Given the description of an element on the screen output the (x, y) to click on. 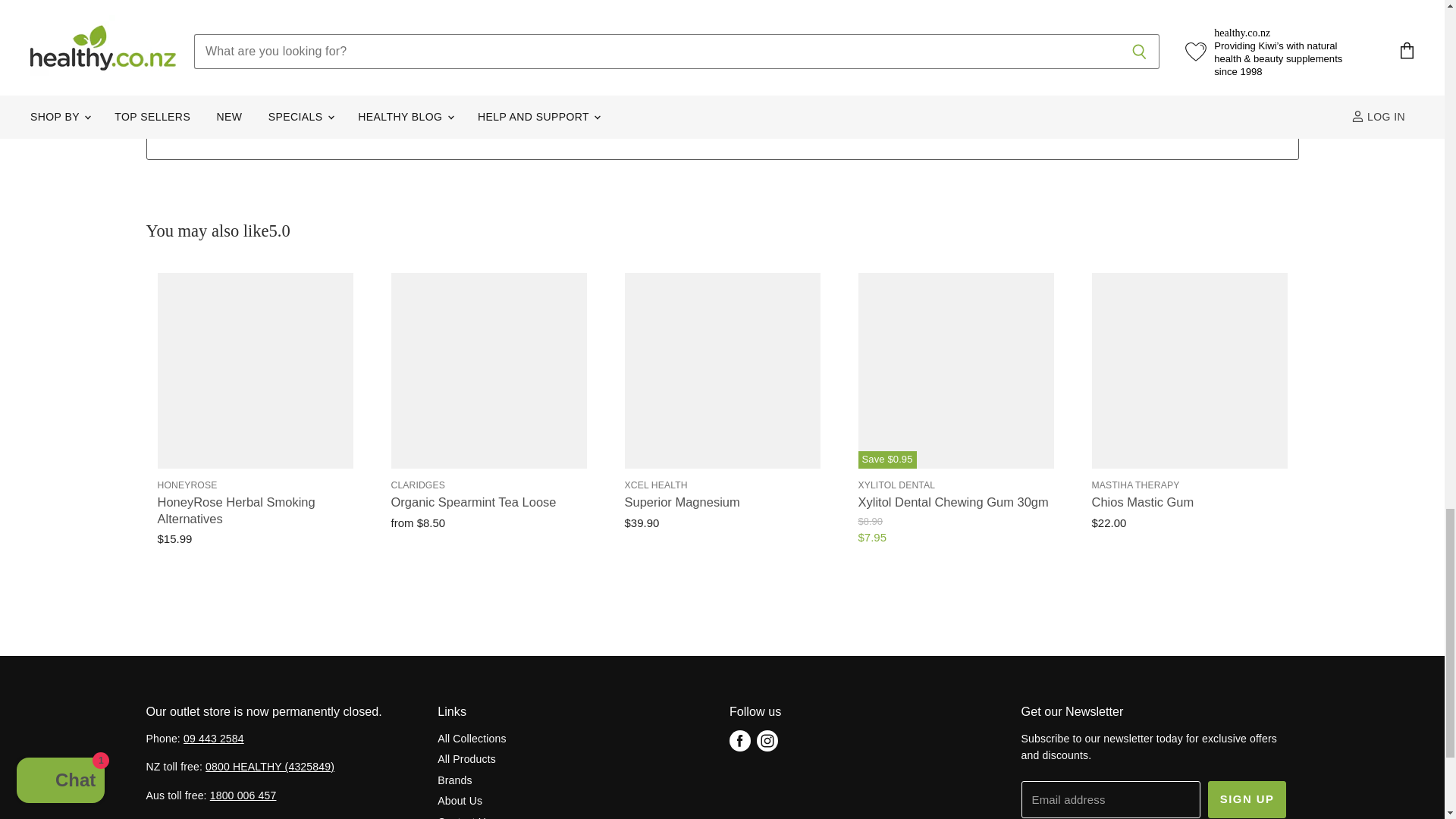
Facebook (740, 740)
Phone (213, 738)
NZ toll free (269, 766)
Aus toll free (242, 795)
Instagram (767, 740)
